Given the description of an element on the screen output the (x, y) to click on. 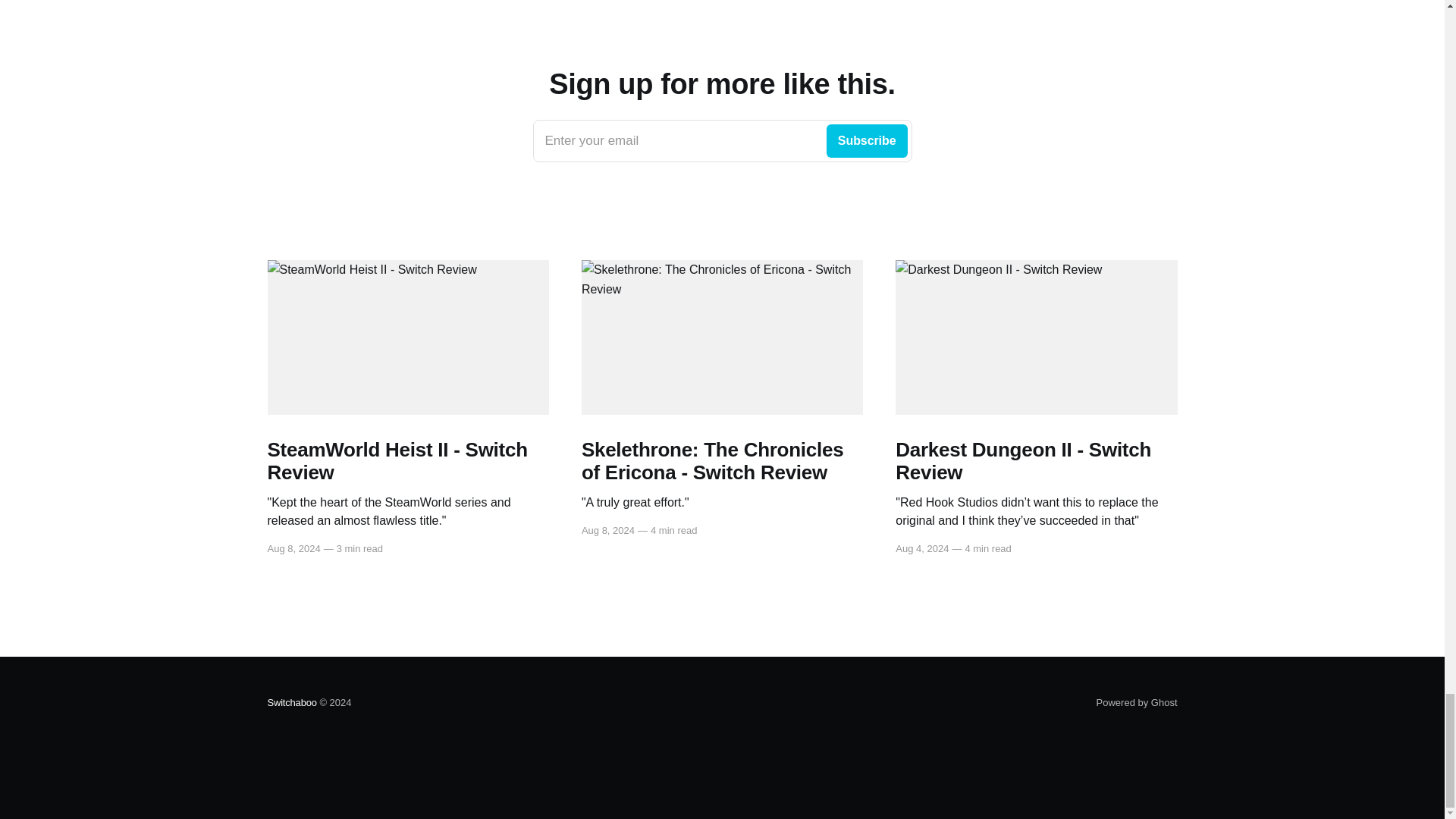
Powered by Ghost (721, 140)
Switchaboo (1136, 702)
